Given the description of an element on the screen output the (x, y) to click on. 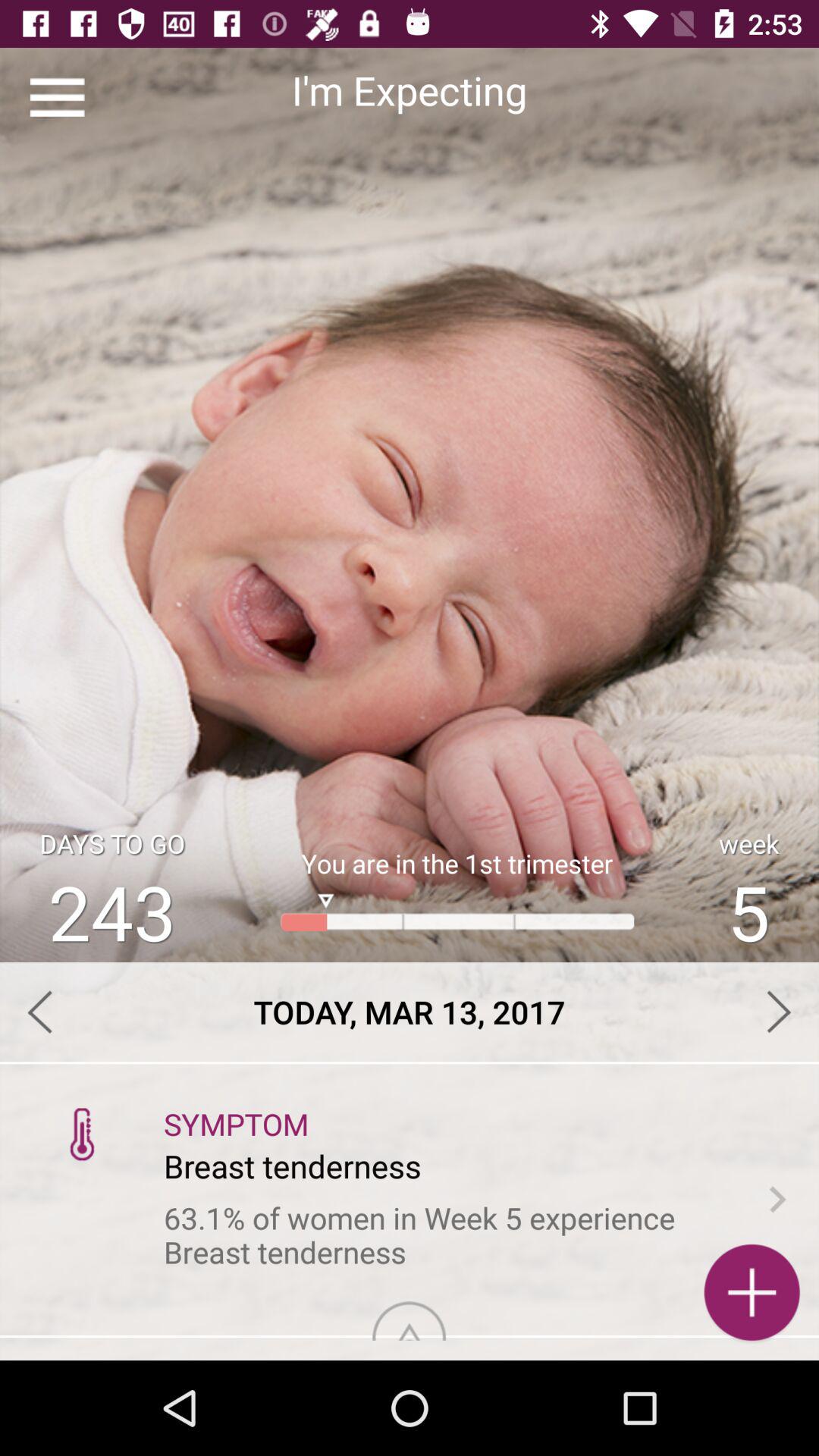
select the icon next to symptom (81, 1133)
